Given the description of an element on the screen output the (x, y) to click on. 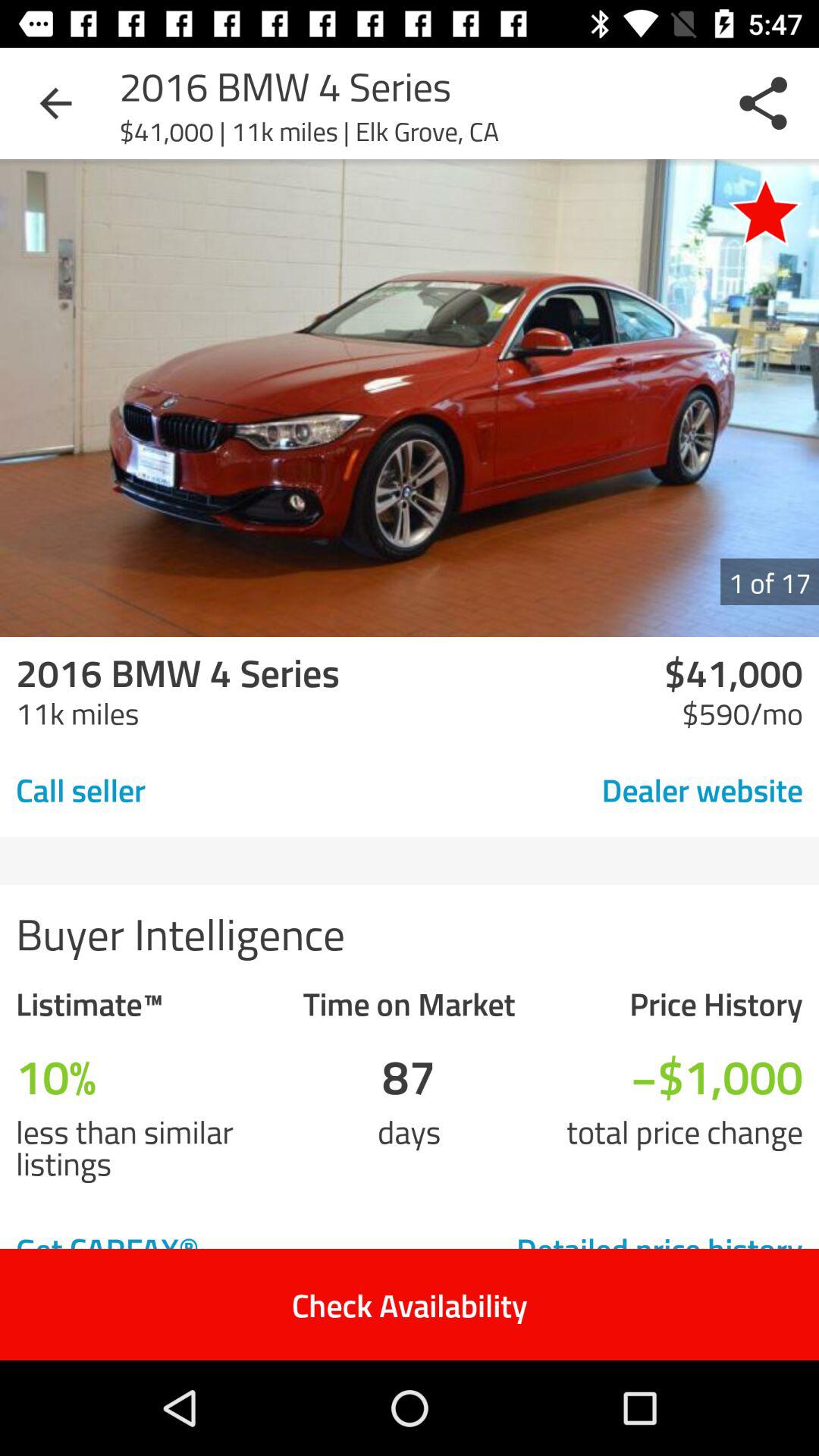
open the buyer intelligence item (409, 932)
